Given the description of an element on the screen output the (x, y) to click on. 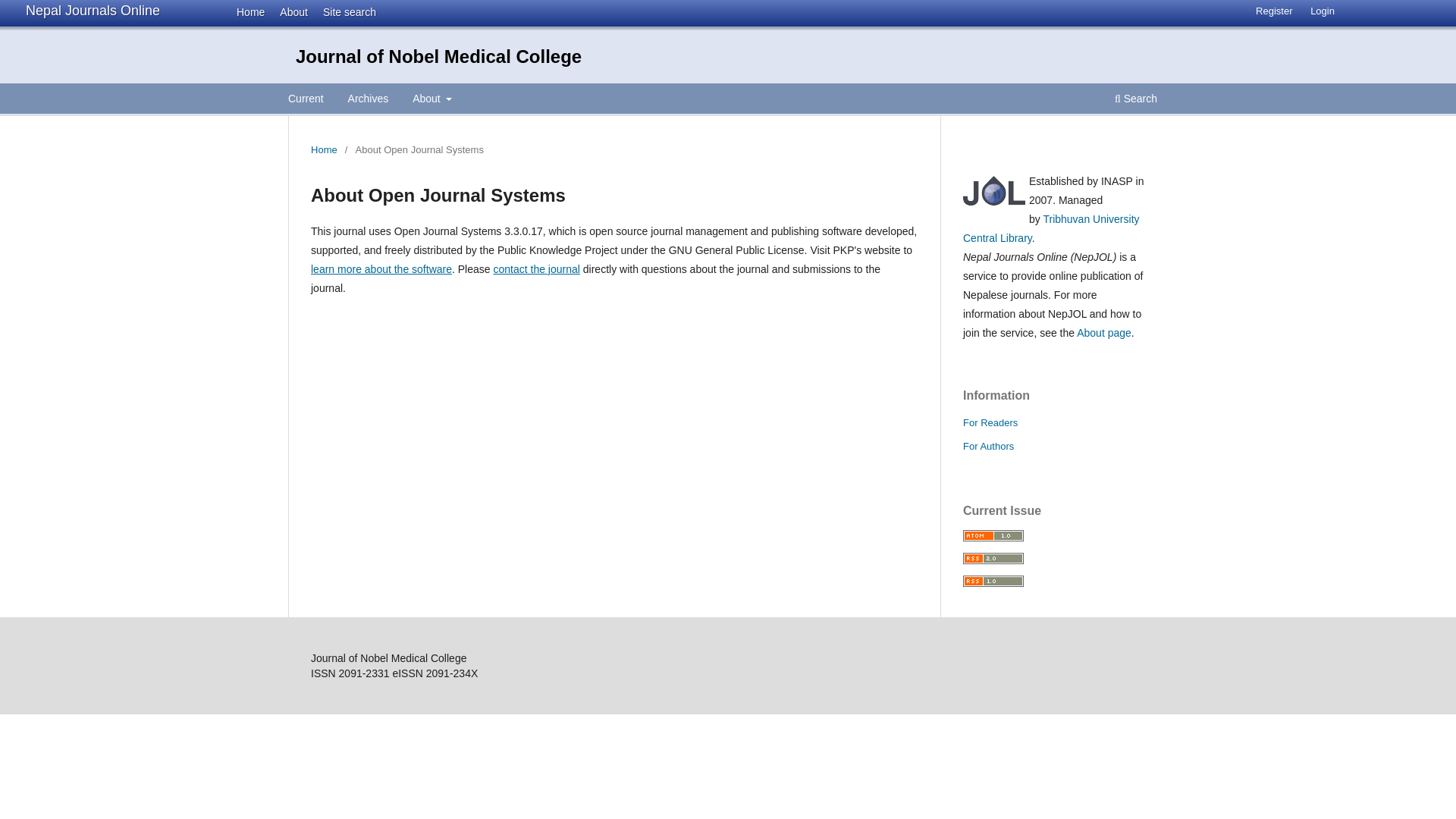
Search (1135, 99)
Site search (344, 11)
learn more about the software (381, 268)
Nepal Journals Online (93, 10)
For Authors (987, 446)
Tribhuvan University Central Library (1051, 228)
Register (1273, 11)
About page (1104, 332)
For Readers (989, 422)
Current (305, 99)
Home (324, 150)
Login (1322, 11)
Journal of Nobel Medical College (437, 56)
contact the journal (536, 268)
About (432, 99)
